Given the description of an element on the screen output the (x, y) to click on. 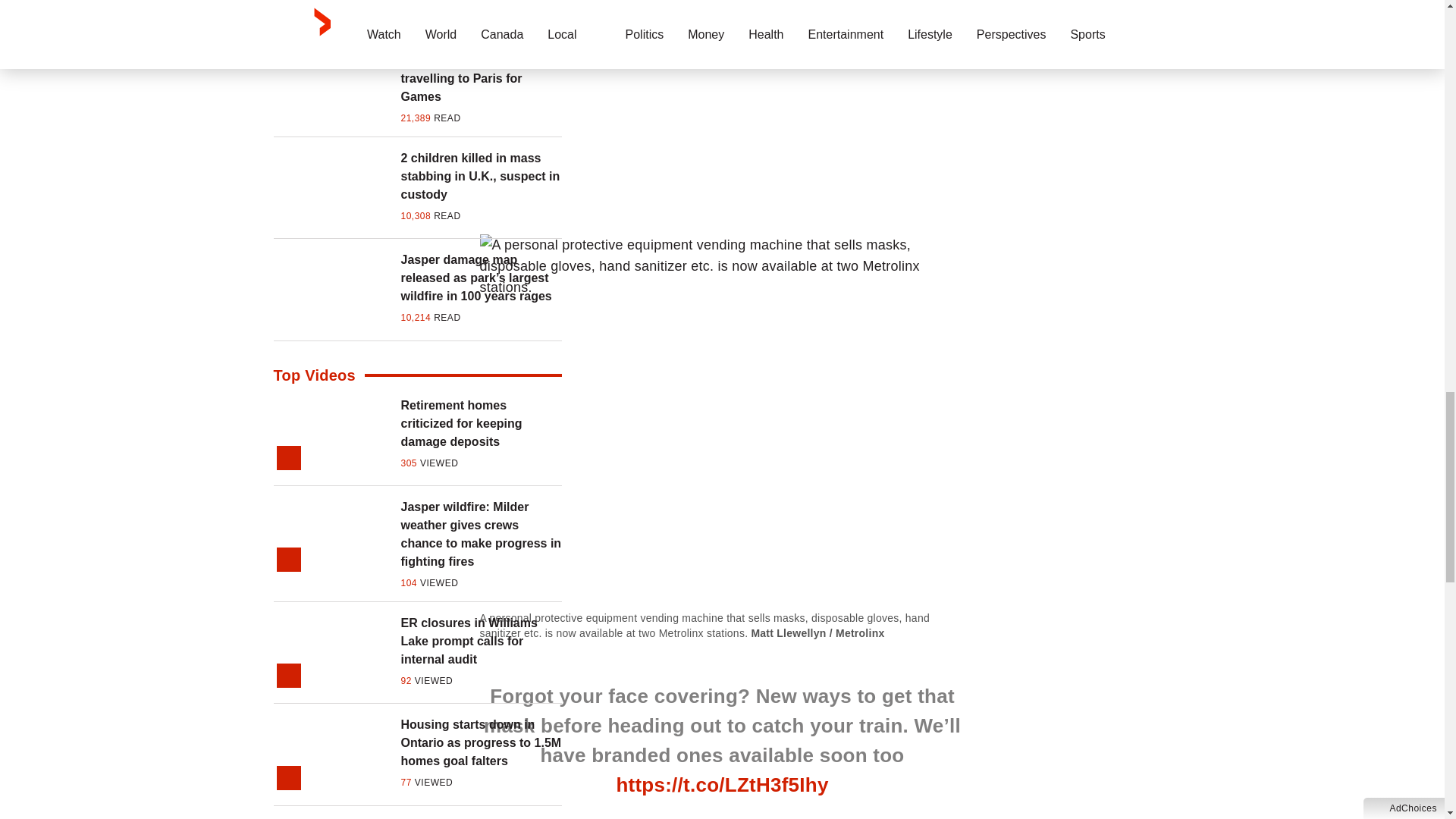
ER closures in Williams Lake prompt calls for internal audit (480, 641)
Retirement homes criticized for keeping damage deposits (480, 423)
